Given the description of an element on the screen output the (x, y) to click on. 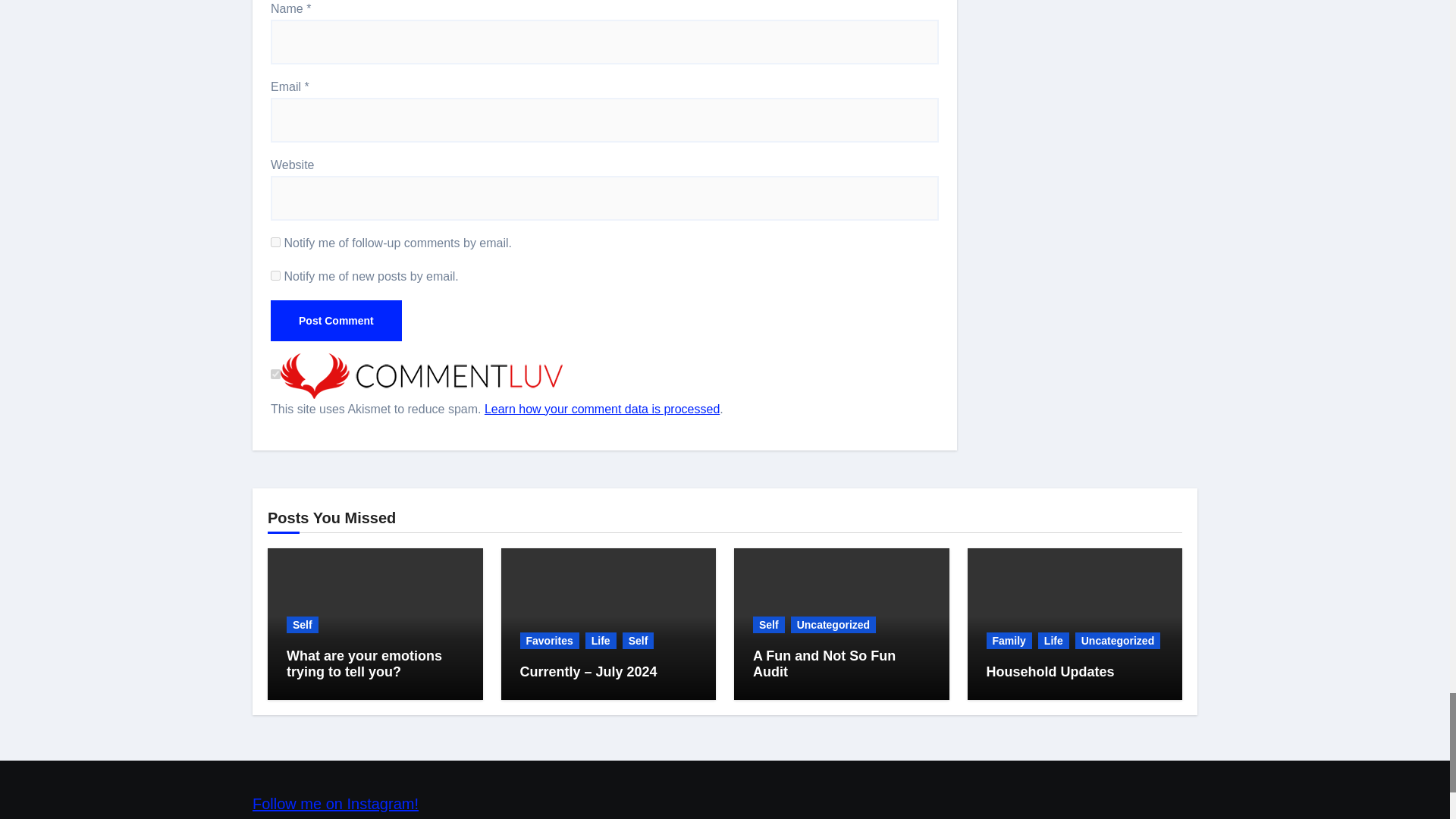
subscribe (275, 242)
subscribe (275, 275)
on (275, 374)
Post Comment (335, 320)
CommentLuv is enabled (421, 374)
Permalink to: What are your emotions trying to tell you? (364, 664)
